Given the description of an element on the screen output the (x, y) to click on. 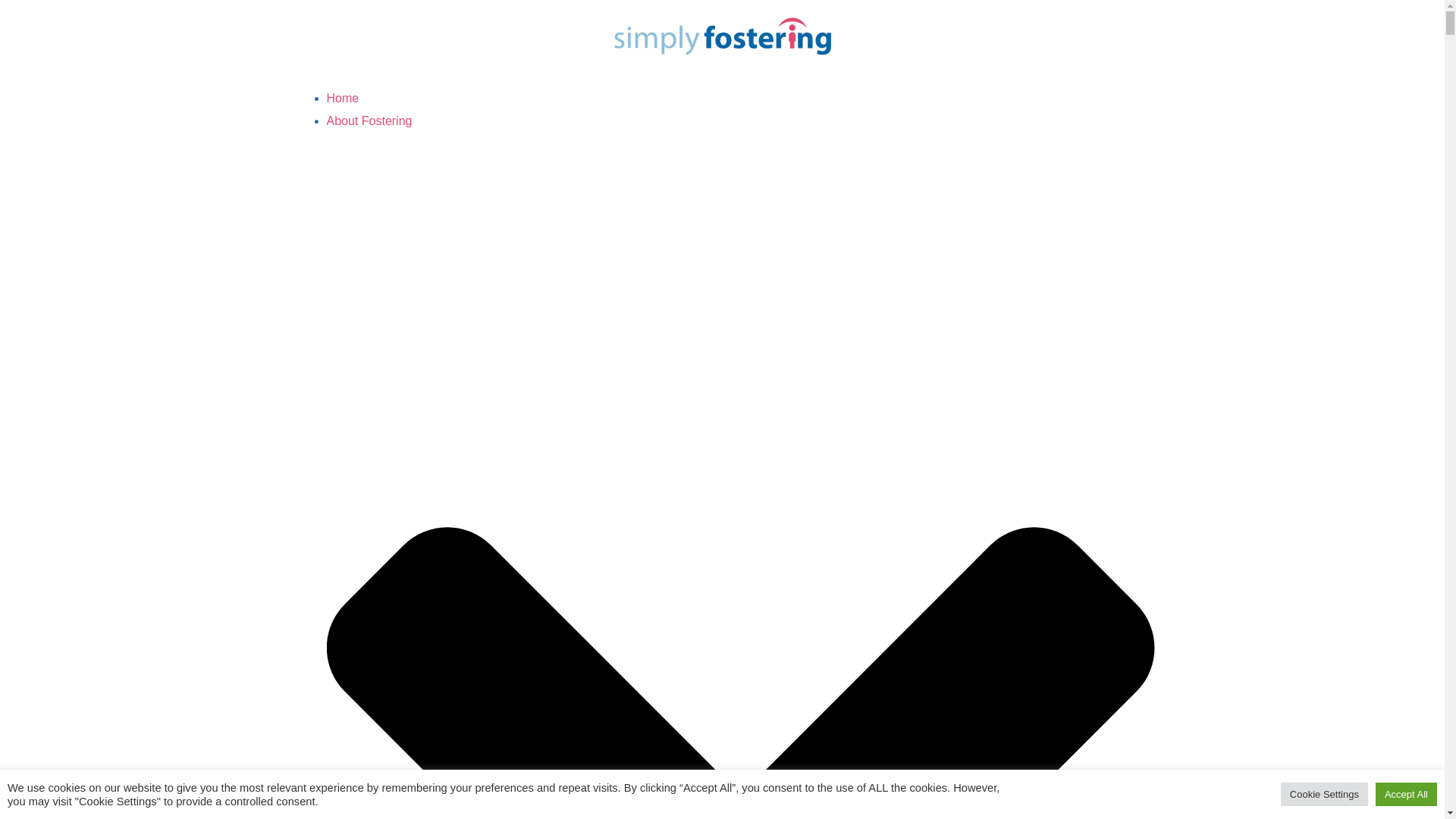
Home (342, 97)
